Given the description of an element on the screen output the (x, y) to click on. 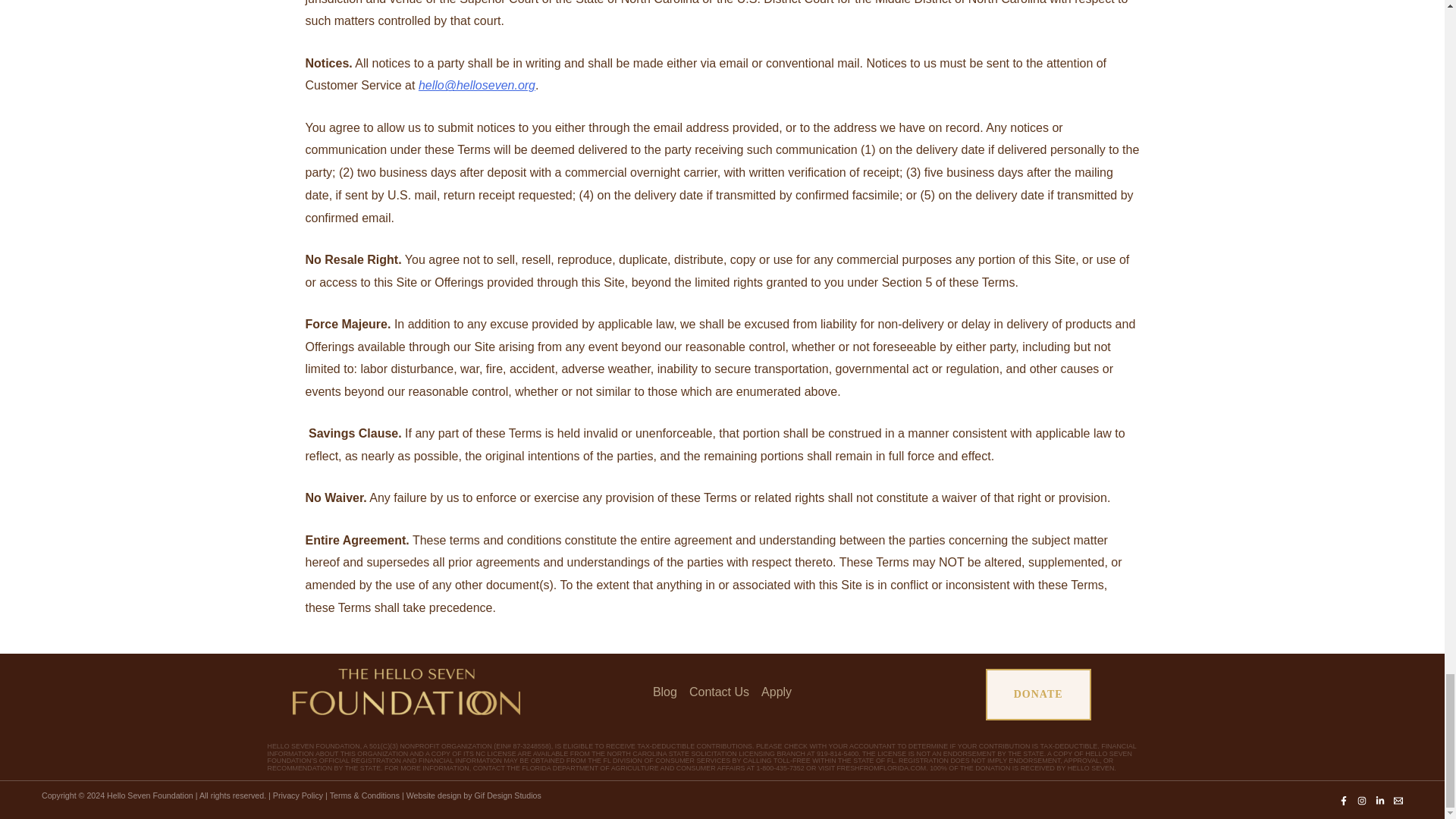
Privacy Policy (298, 795)
Apply (773, 686)
Contact Us (718, 686)
DONATE (1037, 694)
